Given the description of an element on the screen output the (x, y) to click on. 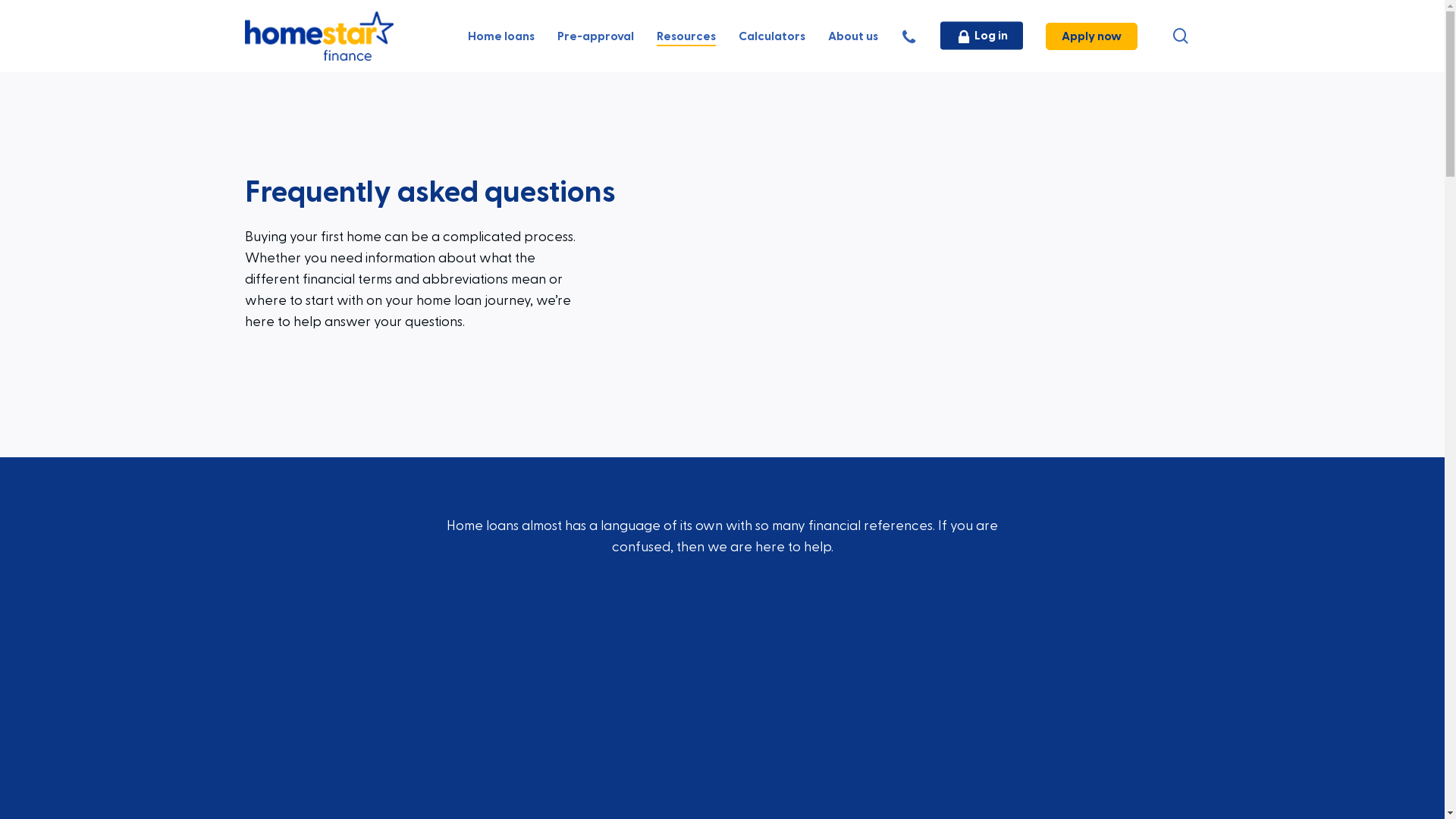
Pre-approval Element type: text (594, 36)
Resources Element type: text (685, 36)
About us Element type: text (853, 36)
search Element type: text (1179, 38)
Home loans Element type: text (500, 36)
Apply now Element type: text (1090, 36)
Log in Element type: text (981, 35)
Calculators Element type: text (771, 36)
